Given the description of an element on the screen output the (x, y) to click on. 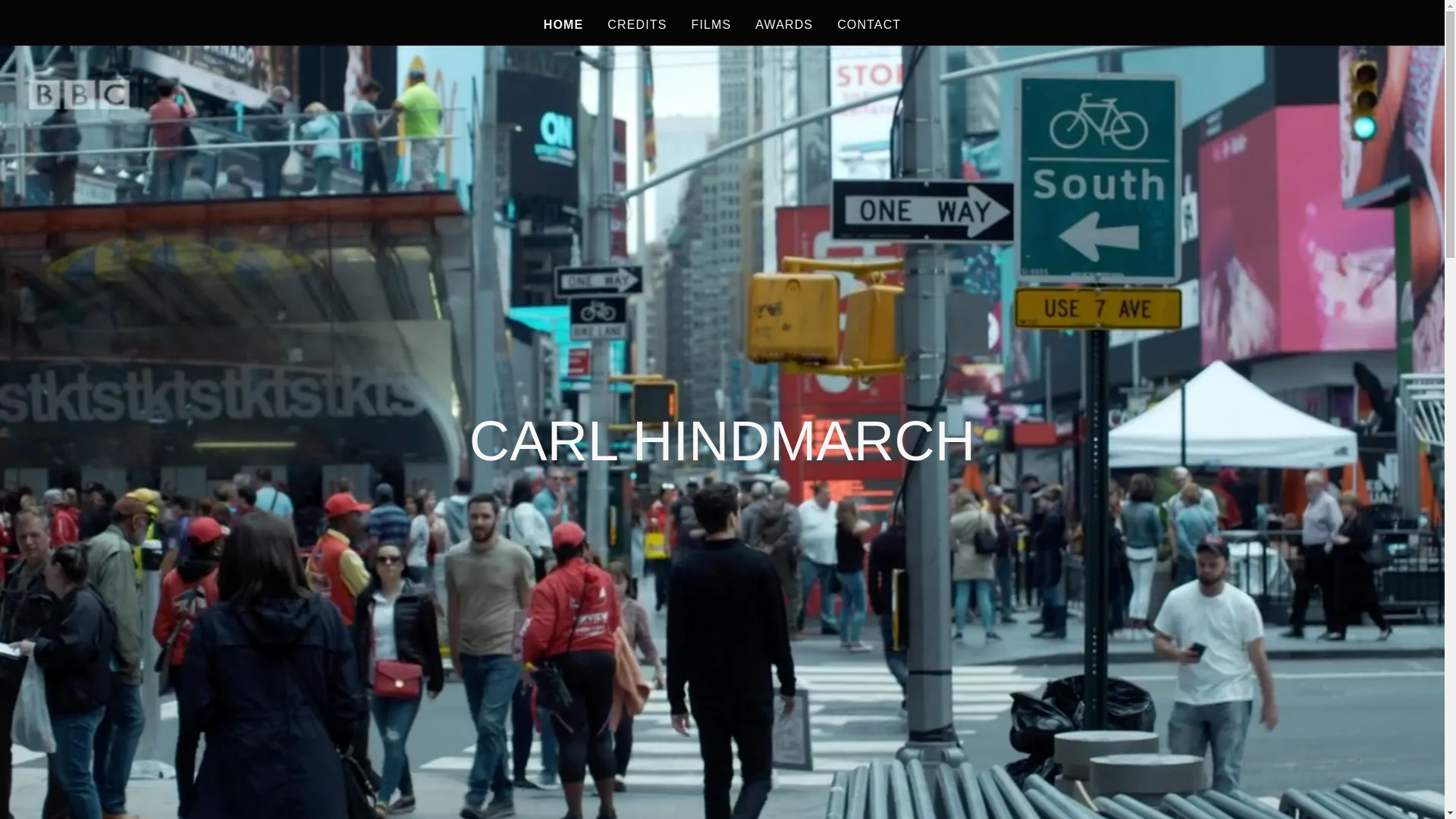
HOME (563, 24)
CONTACT (868, 24)
AWARDS (783, 24)
FILMS (710, 24)
CREDITS (636, 24)
